Given the description of an element on the screen output the (x, y) to click on. 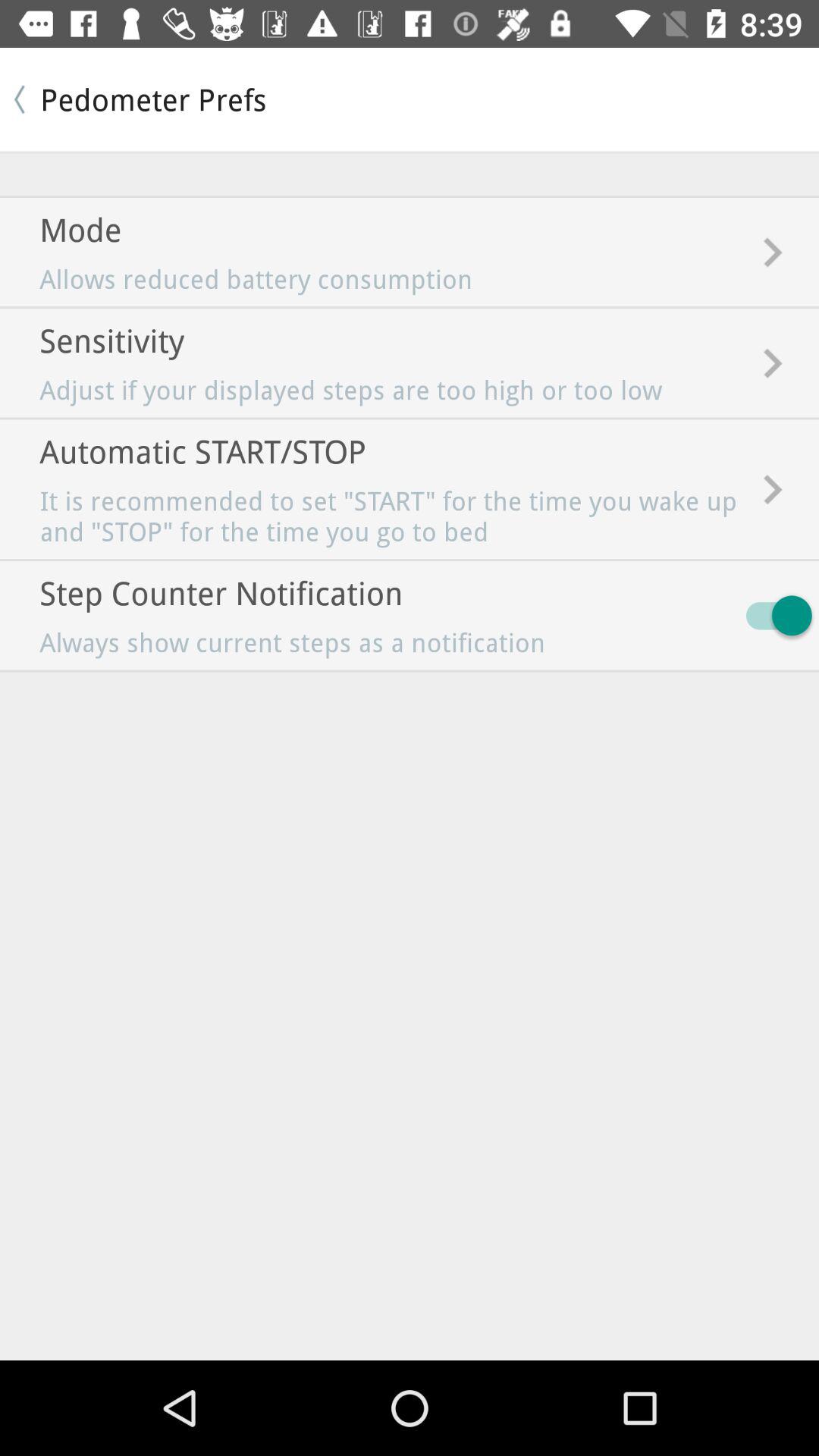
notification toggle option (771, 615)
